Given the description of an element on the screen output the (x, y) to click on. 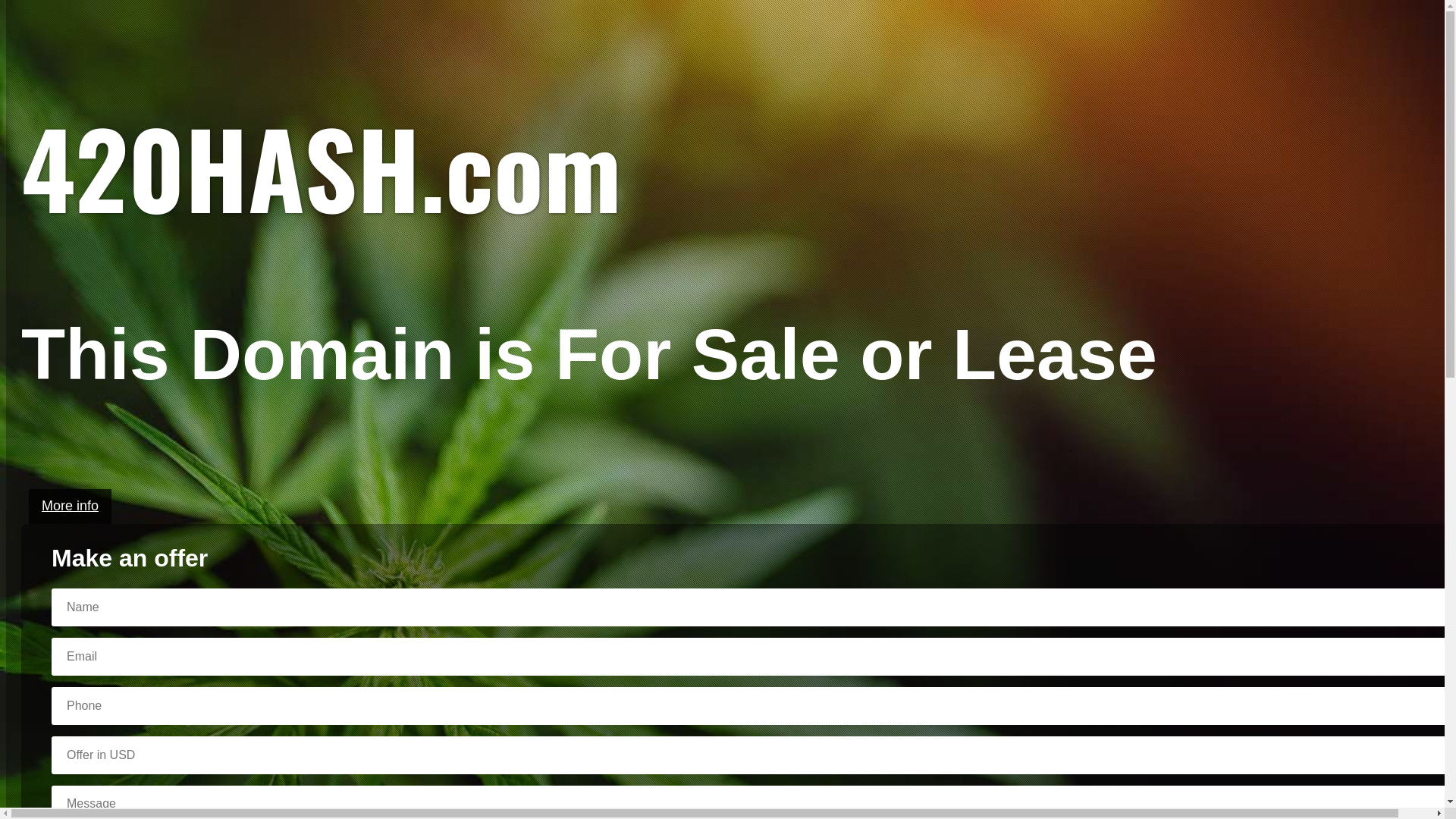
More info Element type: text (69, 506)
